Given the description of an element on the screen output the (x, y) to click on. 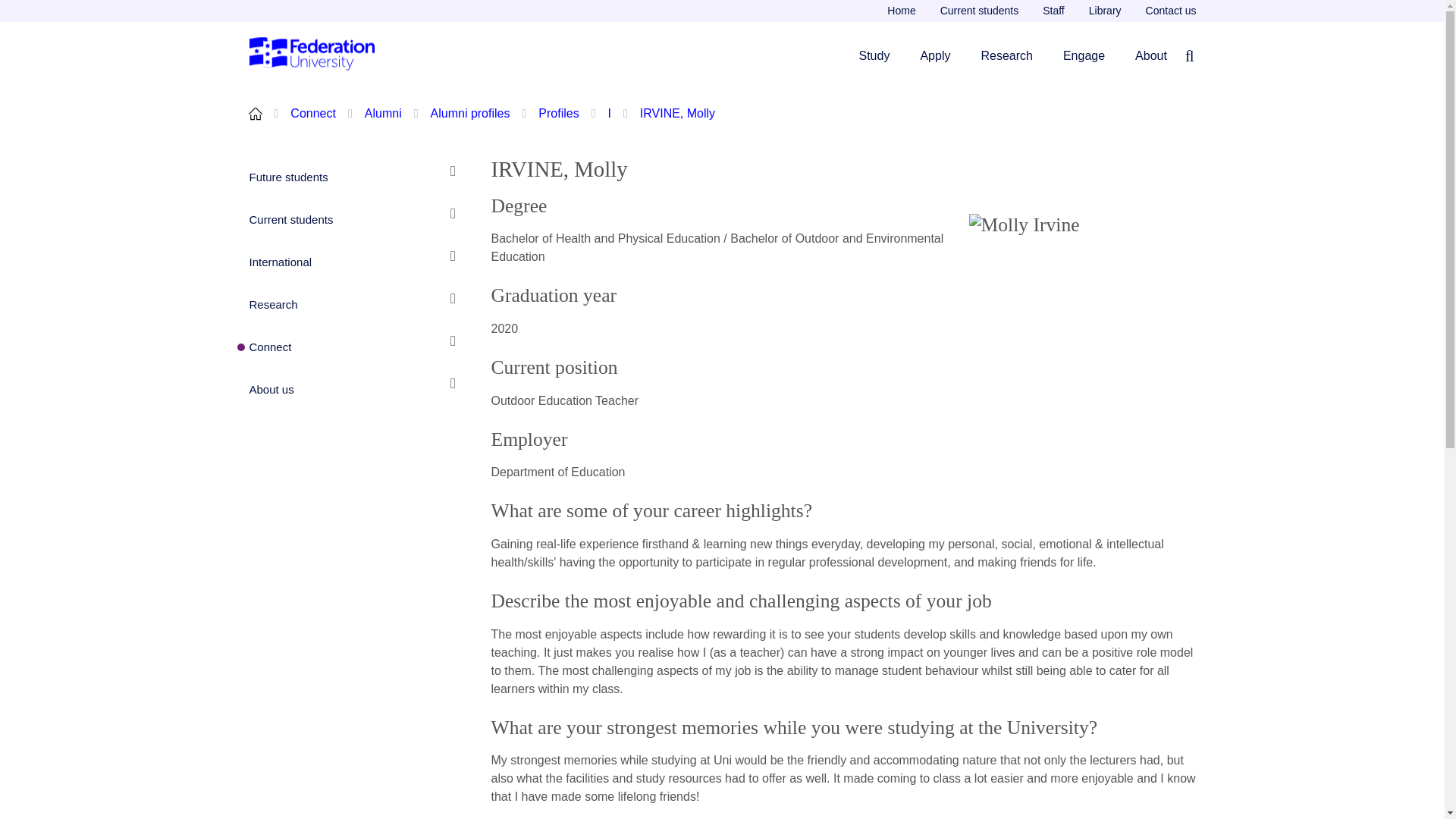
Apply (935, 55)
Study (873, 55)
Federation University Australia (311, 55)
Library (1105, 11)
Contact us (1165, 11)
Home (901, 11)
Staff (1053, 11)
Current students (979, 11)
